Given the description of an element on the screen output the (x, y) to click on. 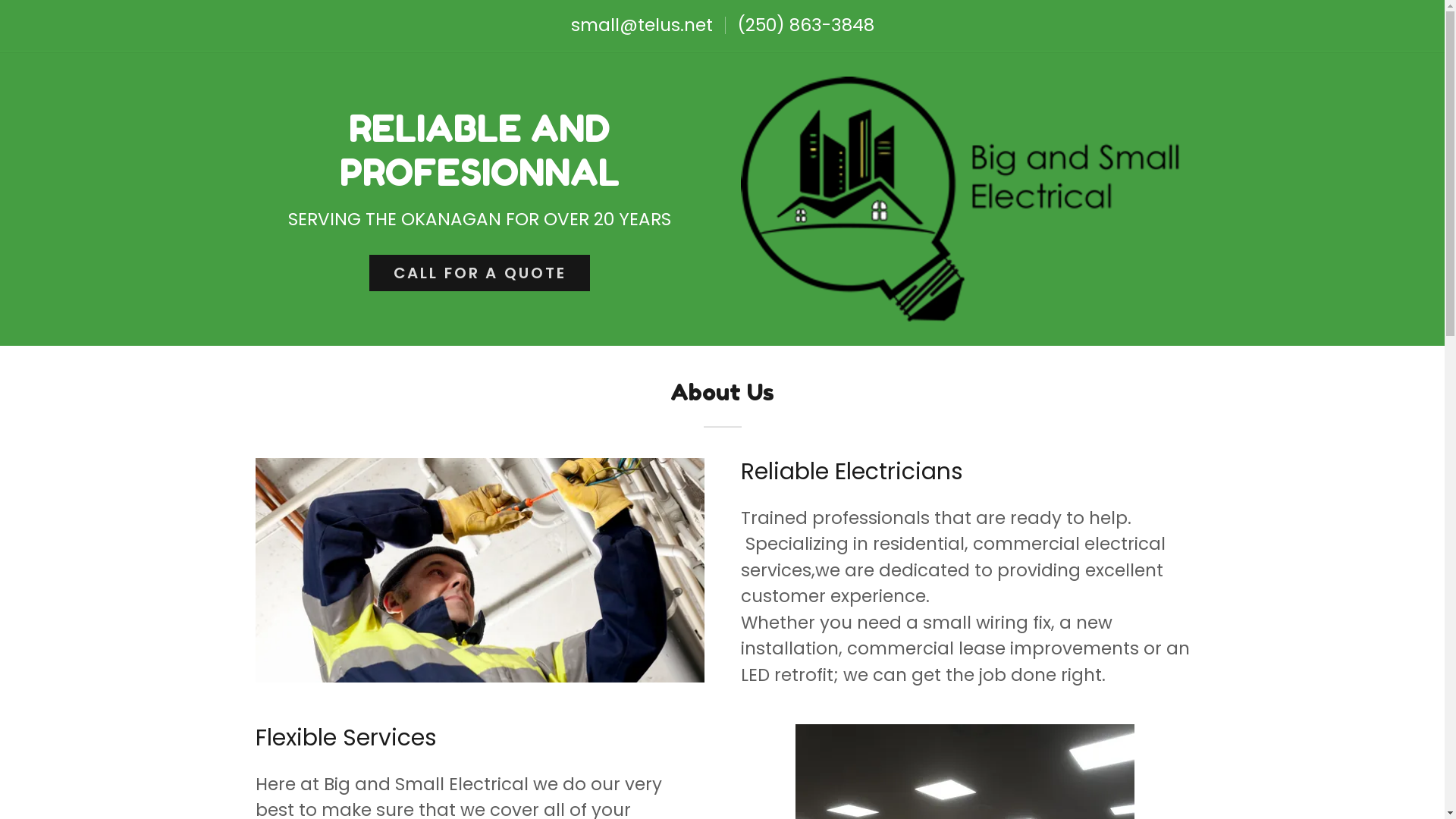
CALL FOR A QUOTE Element type: text (479, 272)
(250) 863-3848 Element type: text (805, 24)
RELIABLE AND PROFESIONNAL Element type: text (478, 179)
